Given the description of an element on the screen output the (x, y) to click on. 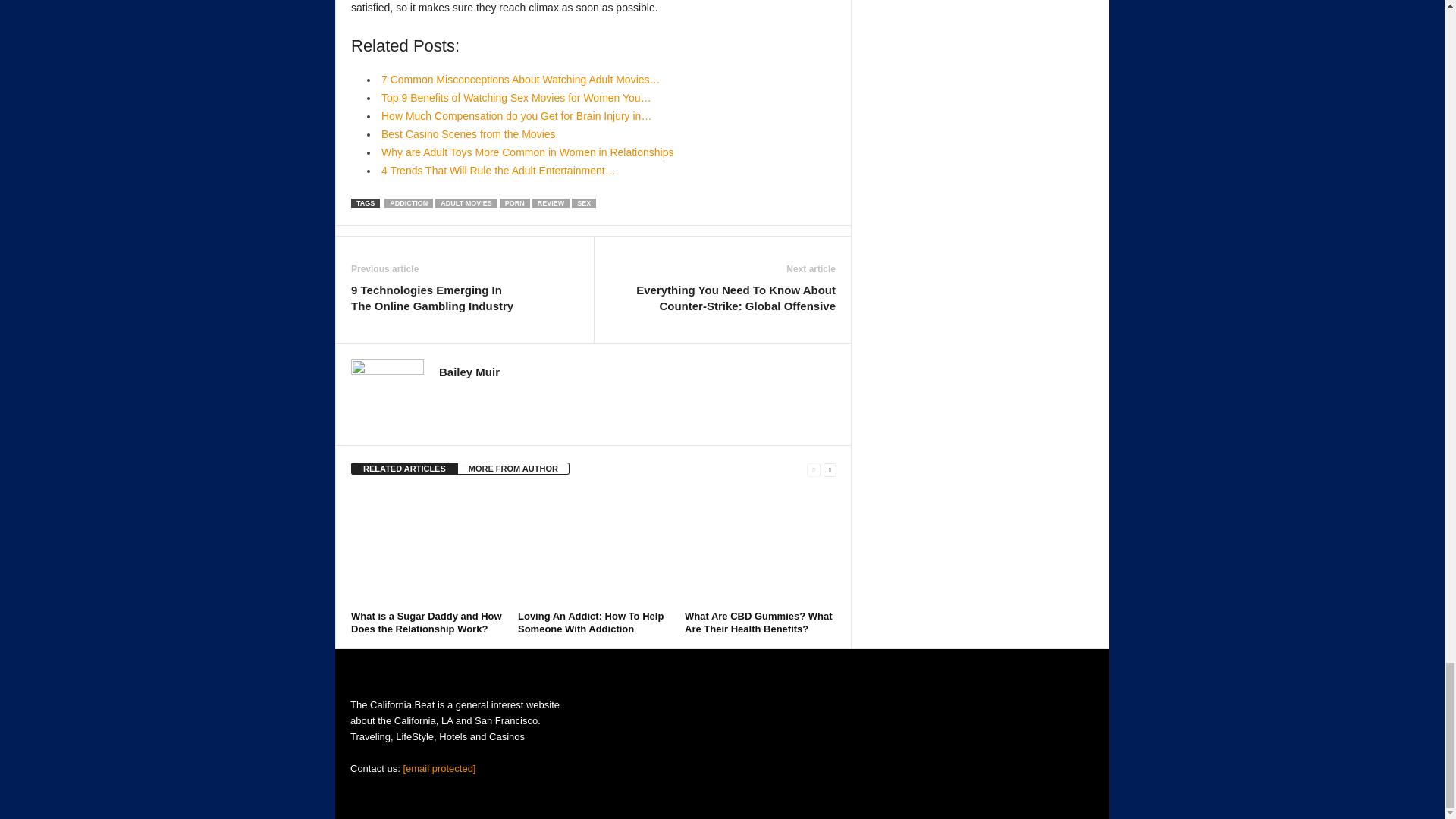
Loving An Addict: How To Help Someone With Addiction (593, 548)
Best Casino Scenes from the Movies  (469, 133)
Why are Adult Toys More Common in Women in Relationships (526, 152)
ADDICTION (408, 203)
What is a Sugar Daddy and How Does the Relationship Work? (426, 622)
Loving An Addict: How To Help Someone With Addiction (590, 622)
What Are CBD Gummies? What Are Their Health Benefits? (758, 622)
What Are CBD Gummies? What Are Their Health Benefits? (759, 548)
What is a Sugar Daddy and How Does the Relationship Work? (426, 548)
